Given the description of an element on the screen output the (x, y) to click on. 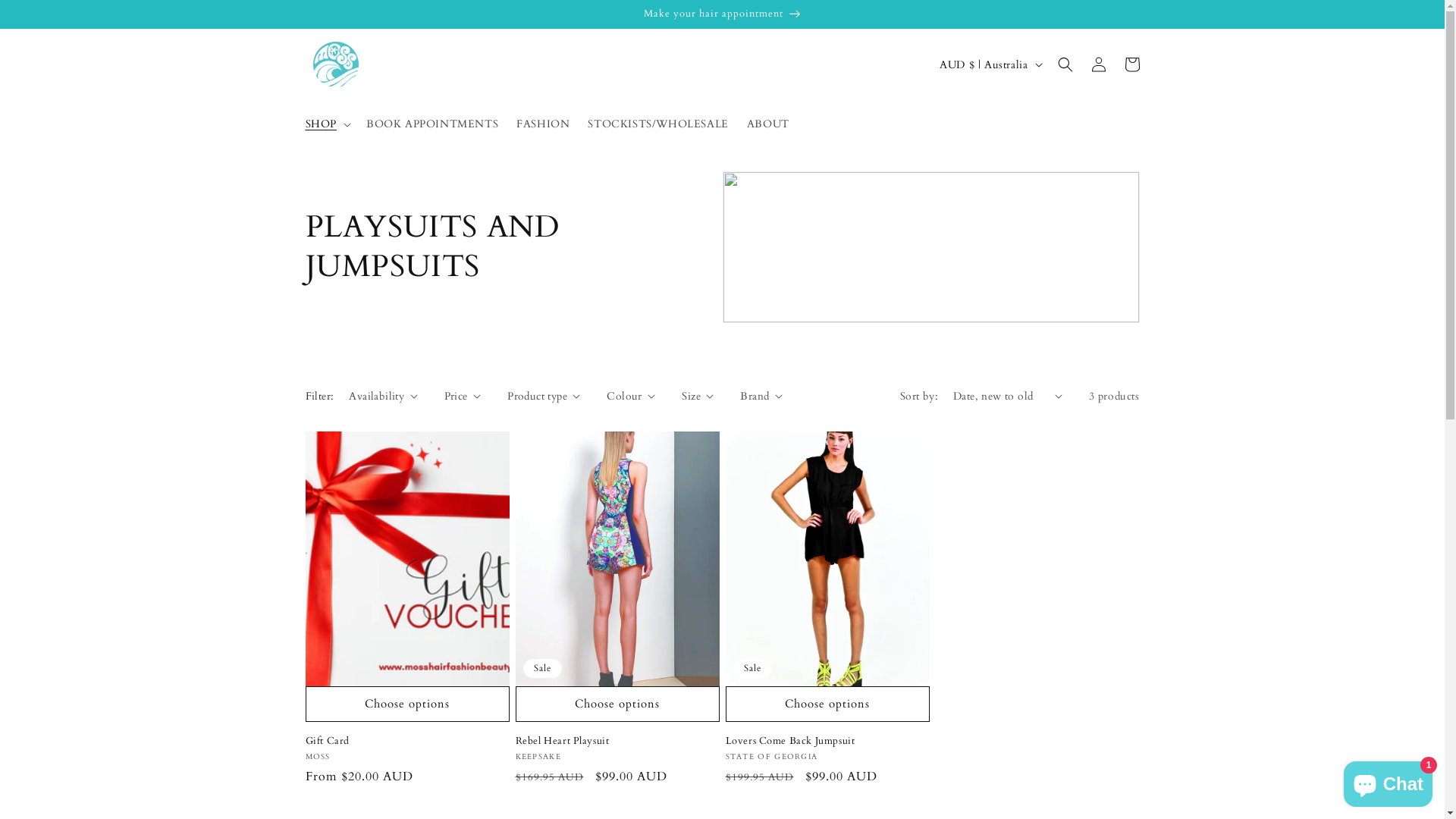
BOOK APPOINTMENTS Element type: text (432, 124)
Choose options Element type: text (406, 703)
Rebel Heart Playsuit Element type: text (617, 740)
Cart Element type: text (1131, 64)
Shopify online store chat Element type: hover (1388, 780)
Lovers Come Back Jumpsuit Element type: text (826, 740)
Log in Element type: text (1097, 64)
Choose options Element type: text (617, 703)
Make your hair appointment Element type: text (722, 14)
ABOUT Element type: text (767, 124)
STOCKISTS/WHOLESALE Element type: text (657, 124)
FASHION Element type: text (542, 124)
Choose options Element type: text (826, 703)
AUD $ | Australia Element type: text (989, 64)
Gift Card Element type: text (406, 740)
